Given the description of an element on the screen output the (x, y) to click on. 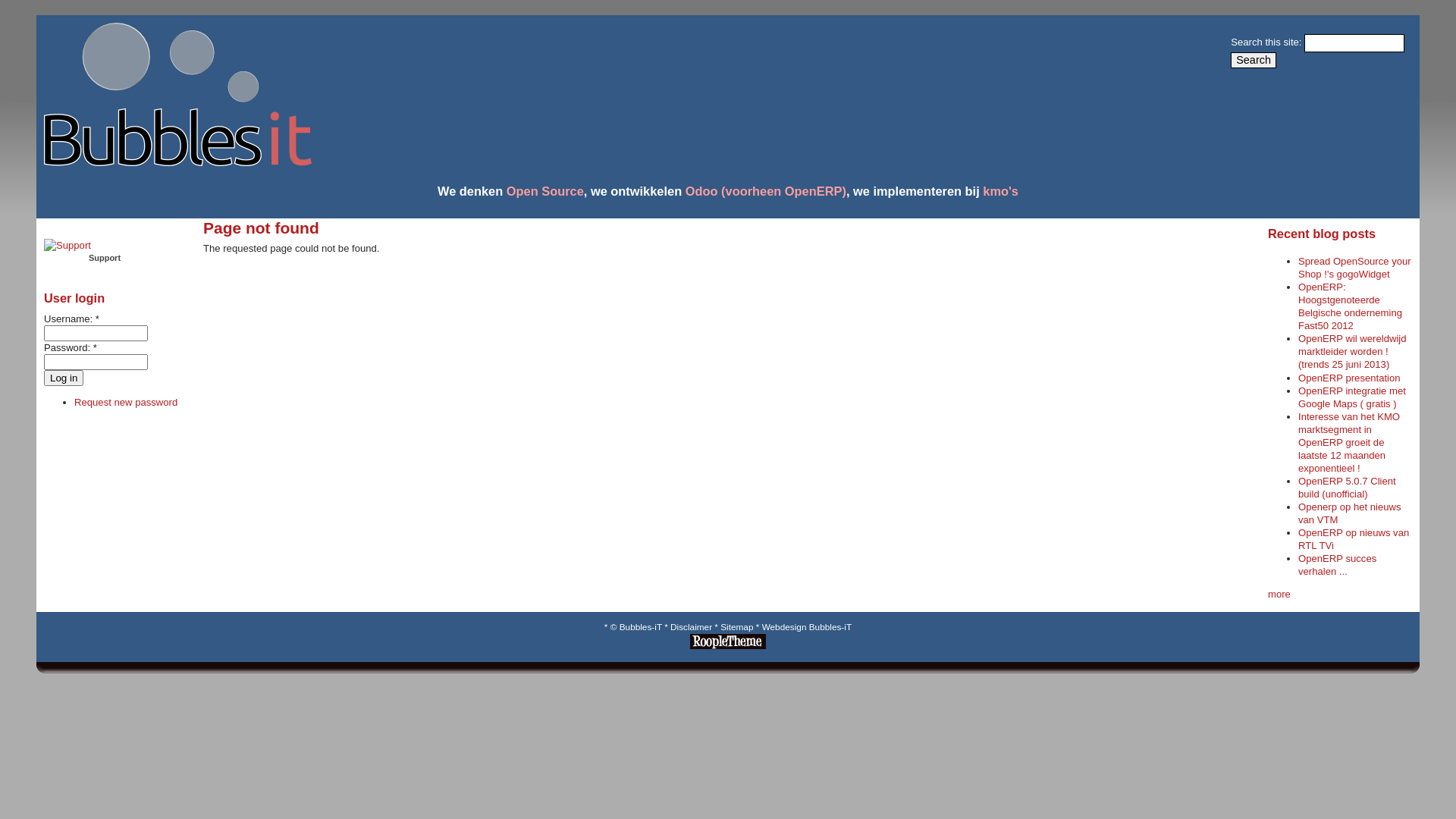
Spread OpenSource your Shop !'s gogoWidget Element type: text (1354, 267)
kmo's Element type: text (1000, 190)
Open Source Element type: text (544, 190)
Request new password Element type: text (125, 401)
RoopleTheme! Element type: hover (727, 645)
OpenERP op nieuws van RTL TVi Element type: text (1353, 539)
Search Element type: text (1253, 60)
Support Element type: hover (67, 244)
Support Element type: text (67, 257)
OpenERP 5.0.7 Client build (unofficial) Element type: text (1347, 487)
Enter the terms you wish to search for. Element type: hover (1354, 43)
OpenERP integratie met Google Maps ( gratis ) Element type: text (1351, 397)
Openerp op het nieuws van VTM Element type: text (1349, 513)
OpenERP succes verhalen ... Element type: text (1337, 564)
Odoo (voorheen OpenERP) Element type: text (765, 190)
more Element type: text (1278, 593)
Log in Element type: text (63, 377)
OpenERP presentation Element type: text (1349, 377)
OpenERP: Hoogstgenoteerde Belgische onderneming Fast50 2012 Element type: text (1350, 306)
Home Element type: hover (173, 162)
